Given the description of an element on the screen output the (x, y) to click on. 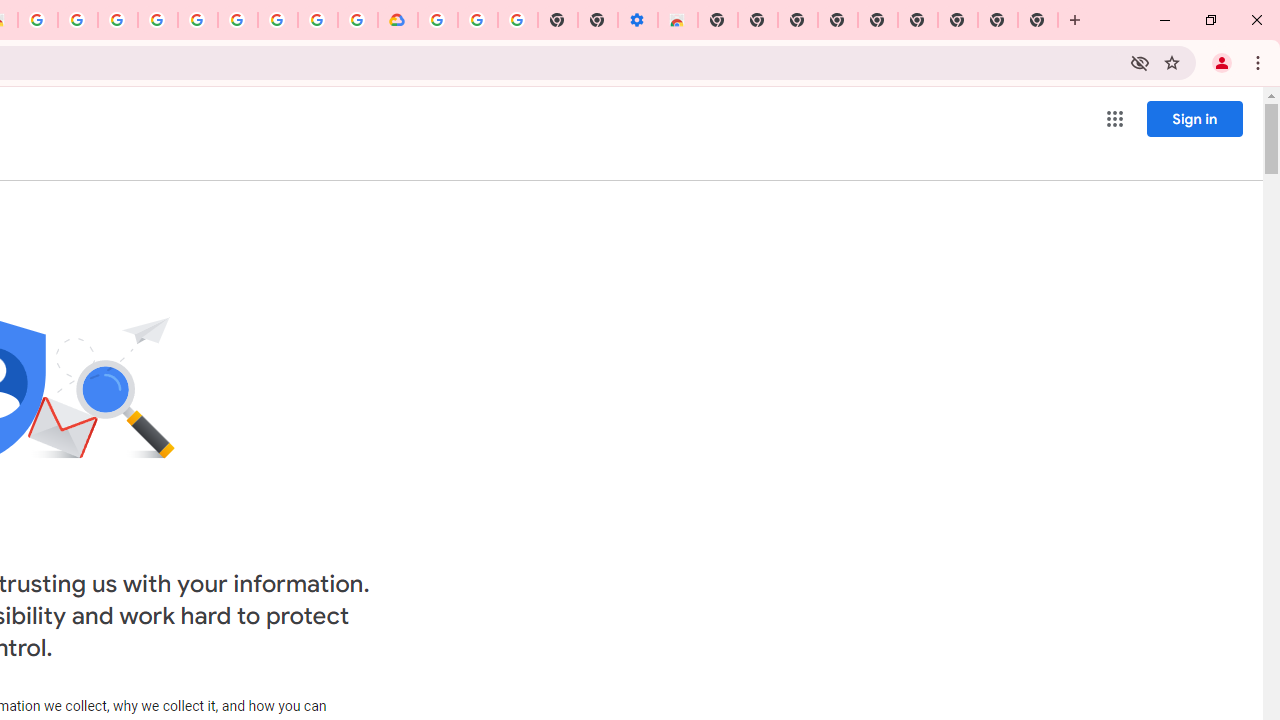
Settings - Accessibility (637, 20)
Create your Google Account (317, 20)
New Tab (717, 20)
Ad Settings (157, 20)
Google Account Help (237, 20)
Google Account Help (477, 20)
